Given the description of an element on the screen output the (x, y) to click on. 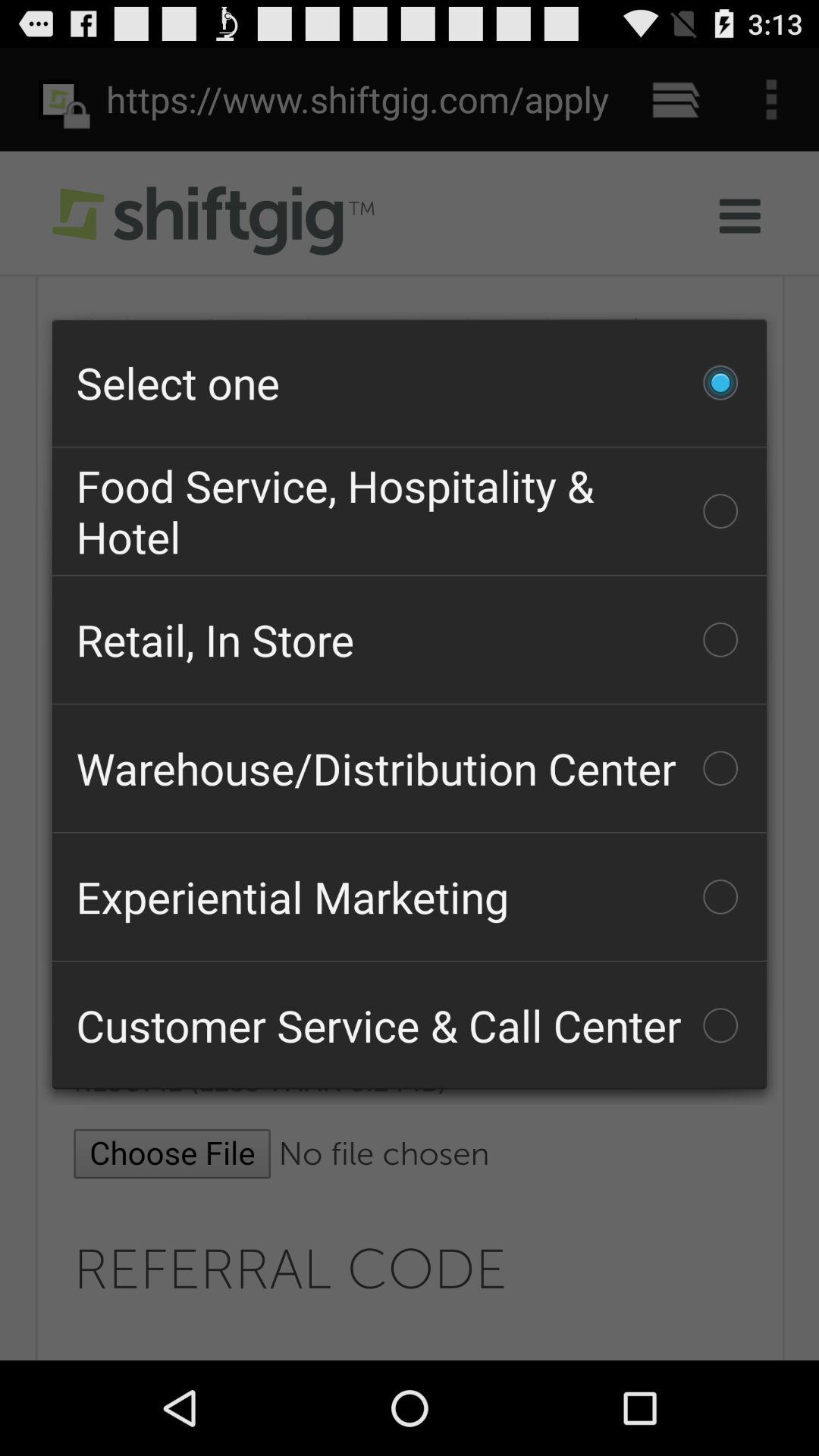
open the checkbox above the food service hospitality checkbox (409, 382)
